Given the description of an element on the screen output the (x, y) to click on. 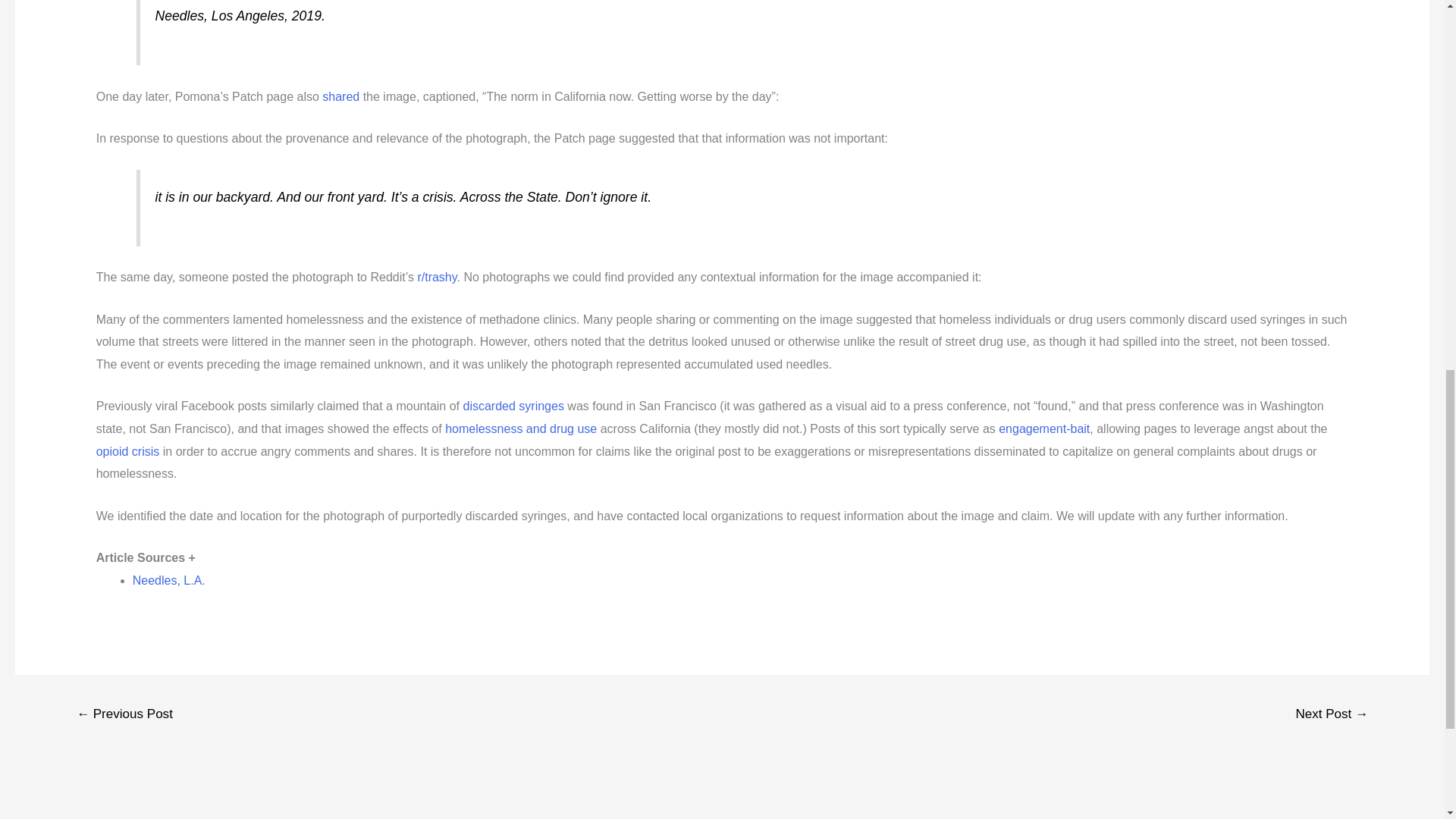
discarded syringes (513, 405)
shared (340, 96)
Needles, L.A. (168, 580)
engagement-bait (1043, 428)
homelessness and drug use (520, 428)
opioid crisis (128, 451)
